Given the description of an element on the screen output the (x, y) to click on. 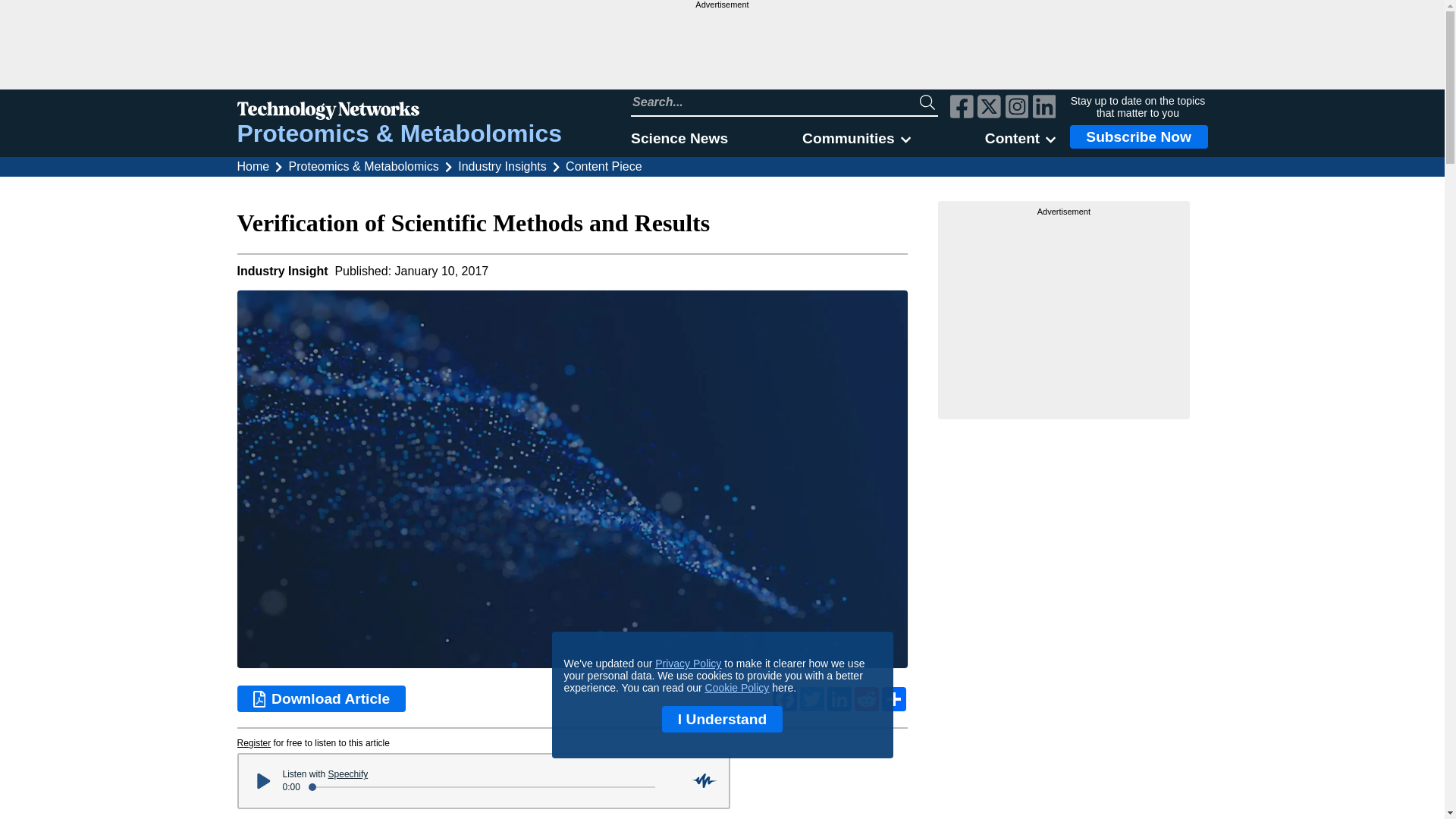
Link to Technology Networks' facebook page (962, 108)
Link to Technology Networks' twitter page (988, 108)
Link to Technology Networks' instagram page (1017, 108)
3rd party ad content (1063, 312)
3rd party ad content (721, 49)
Search Technology Networks website input field (775, 102)
I Understand (722, 718)
Link to Technology Networks' linkedin page (1044, 108)
Technology Networks logo (398, 112)
Privacy Policy (687, 663)
Cookie Policy (737, 687)
